Given the description of an element on the screen output the (x, y) to click on. 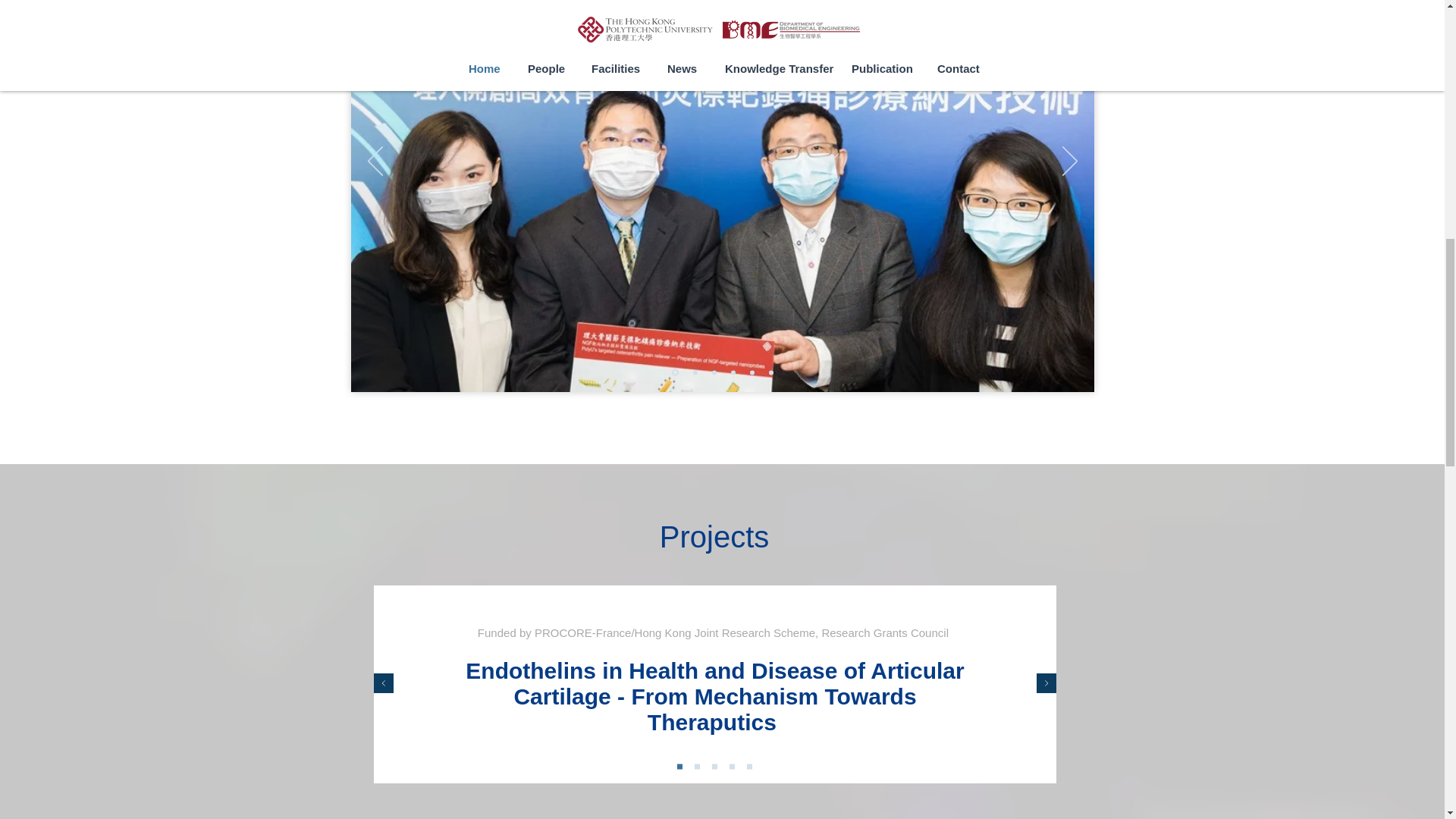
Projects (714, 536)
